Given the description of an element on the screen output the (x, y) to click on. 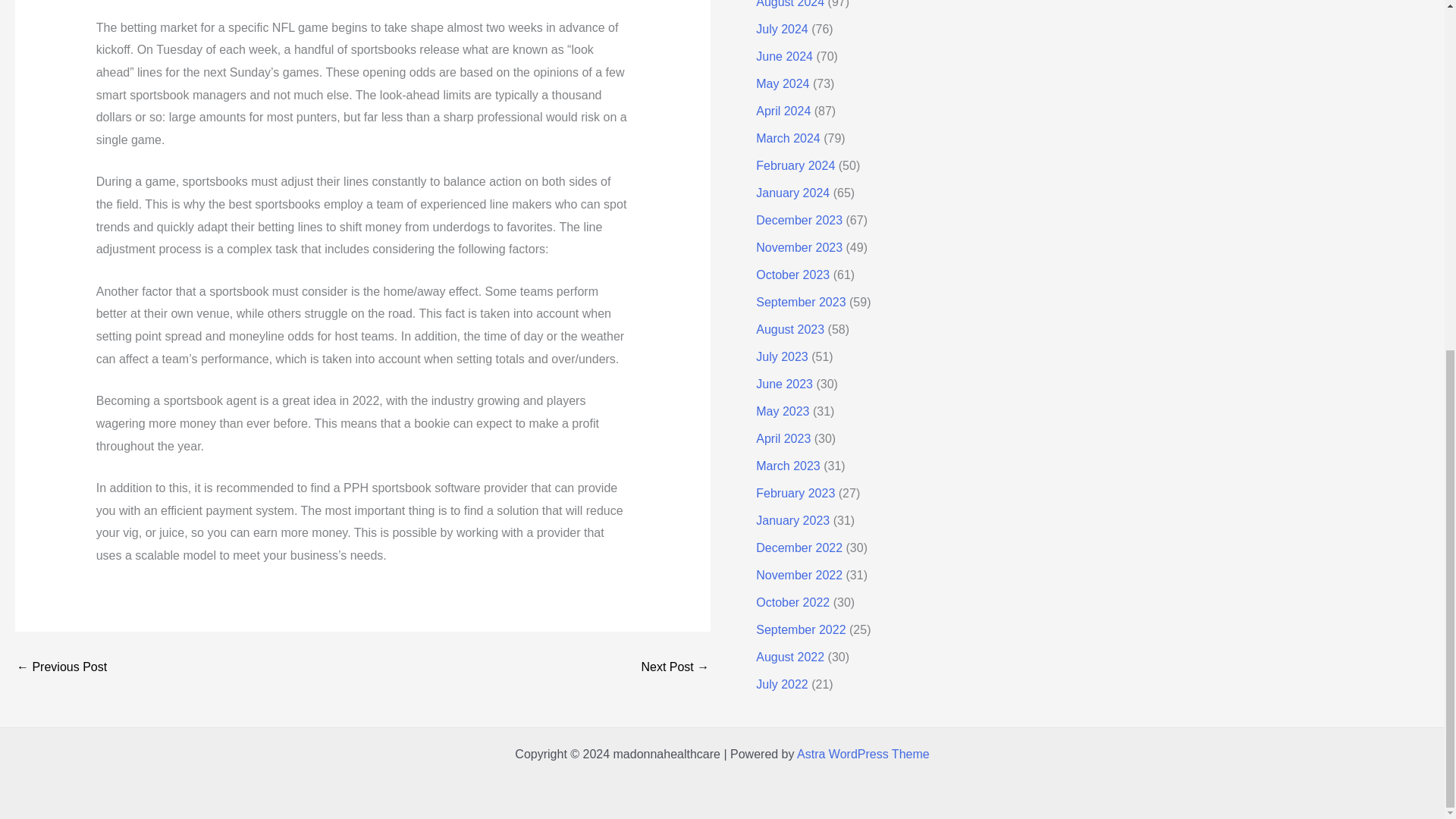
April 2024 (782, 110)
July 2024 (781, 29)
May 2023 (782, 410)
Top 5 Online Casinos (674, 666)
Togel Singapore dan Hong Kong: Prediksi dan Hasil Hari Ini (61, 666)
October 2023 (792, 274)
December 2023 (799, 219)
March 2023 (788, 465)
December 2022 (799, 547)
November 2022 (799, 574)
